Given the description of an element on the screen output the (x, y) to click on. 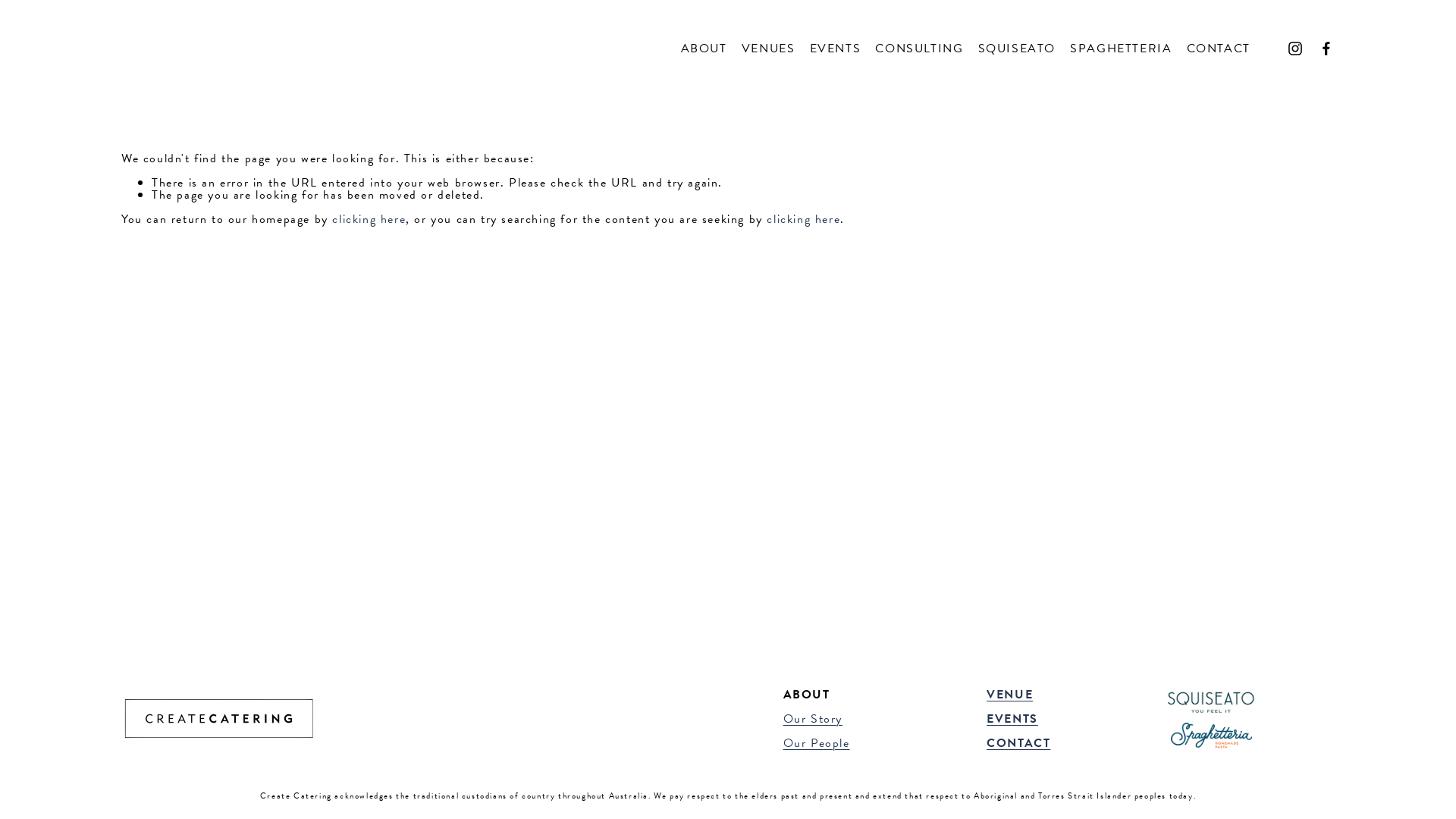
VENUE Element type: text (1009, 694)
CONTACT Element type: text (1218, 47)
SQUISEATO Element type: text (1016, 47)
EVENTS Element type: text (835, 47)
VENUES Element type: text (768, 47)
SPAGHETTERIA Element type: text (1120, 47)
clicking here Element type: text (803, 219)
clicking here Element type: text (368, 219)
Our People Element type: text (816, 743)
Our Story Element type: text (812, 718)
CONTACT Element type: text (1018, 743)
EVENTS Element type: text (1012, 718)
ABOUT Element type: text (703, 47)
CONSULTING Element type: text (919, 47)
